Given the description of an element on the screen output the (x, y) to click on. 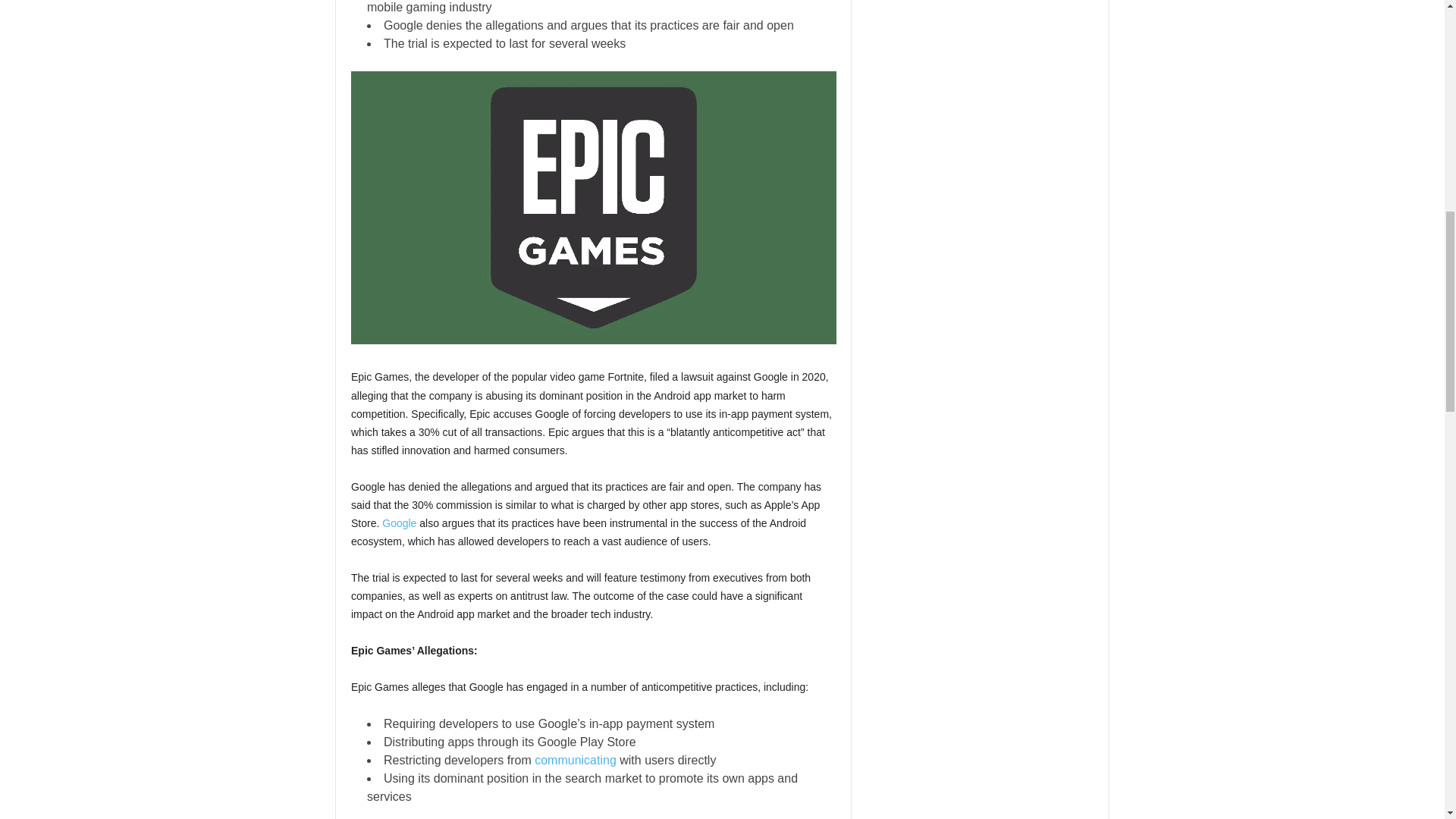
Google (398, 522)
communicating (574, 759)
